Given the description of an element on the screen output the (x, y) to click on. 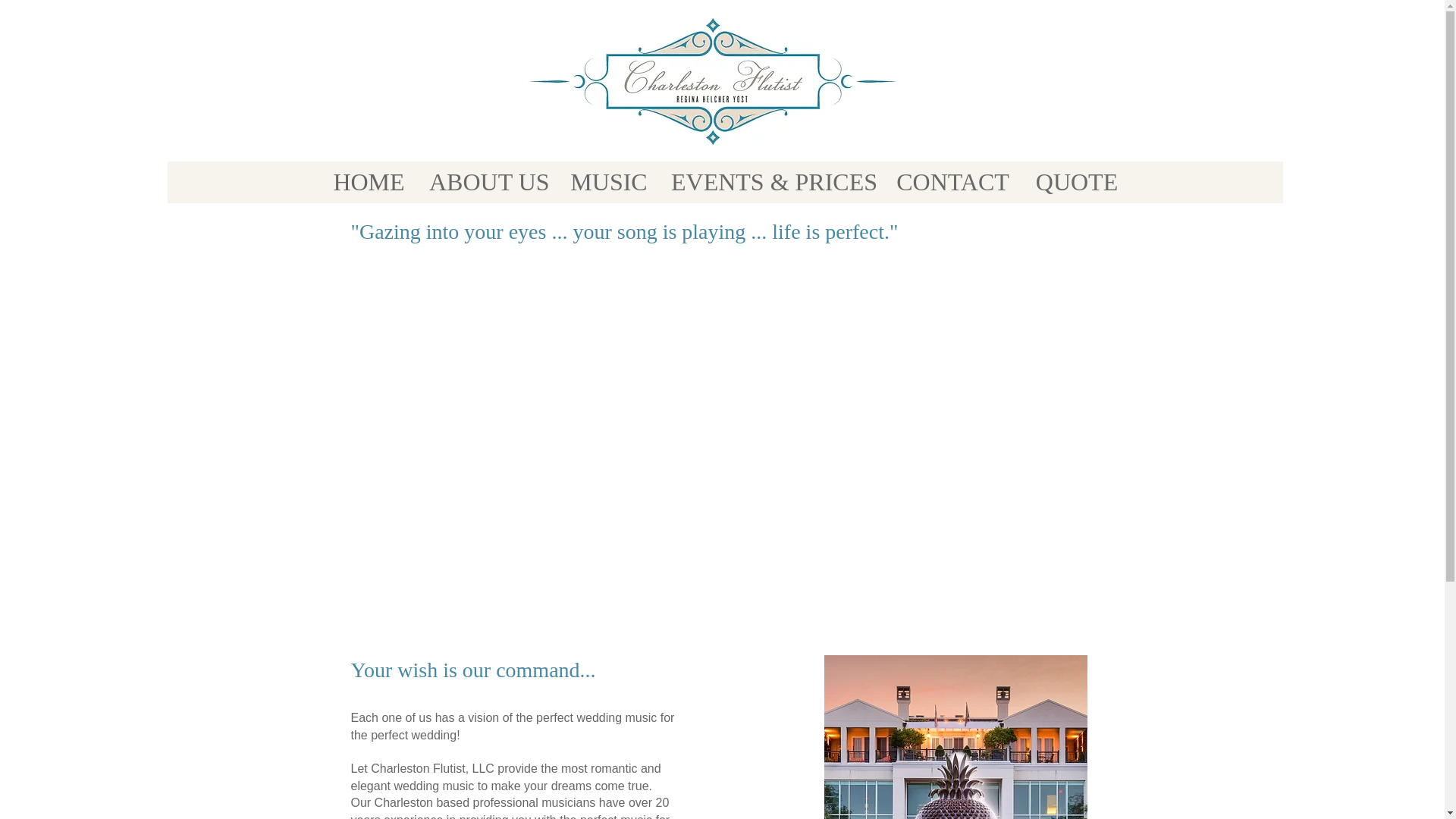
ABOUT US (486, 182)
CONTACT (952, 182)
HOME (368, 182)
Facebook Like (390, 257)
QUOTE (1076, 182)
